Given the description of an element on the screen output the (x, y) to click on. 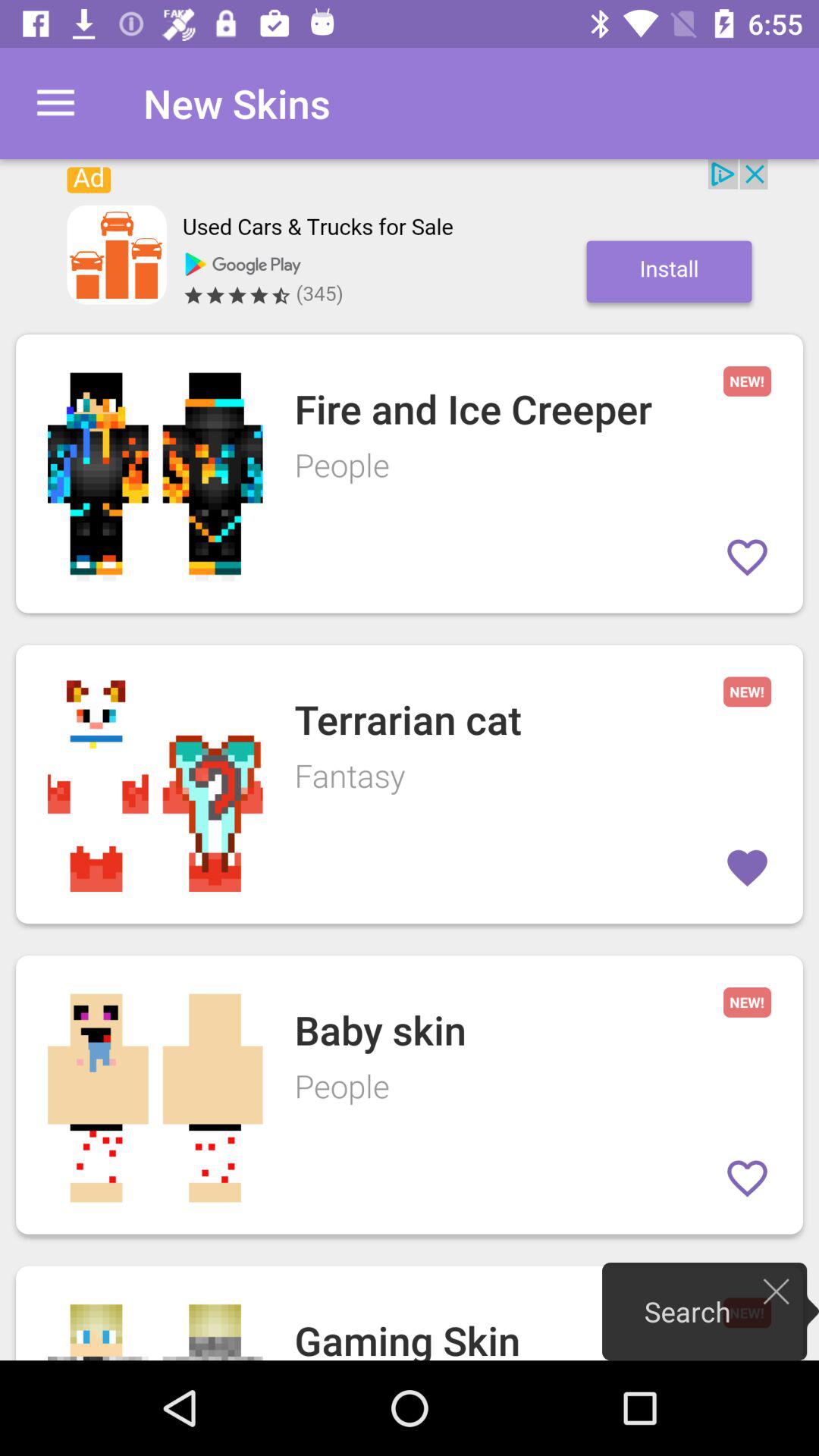
like button (747, 557)
